Given the description of an element on the screen output the (x, y) to click on. 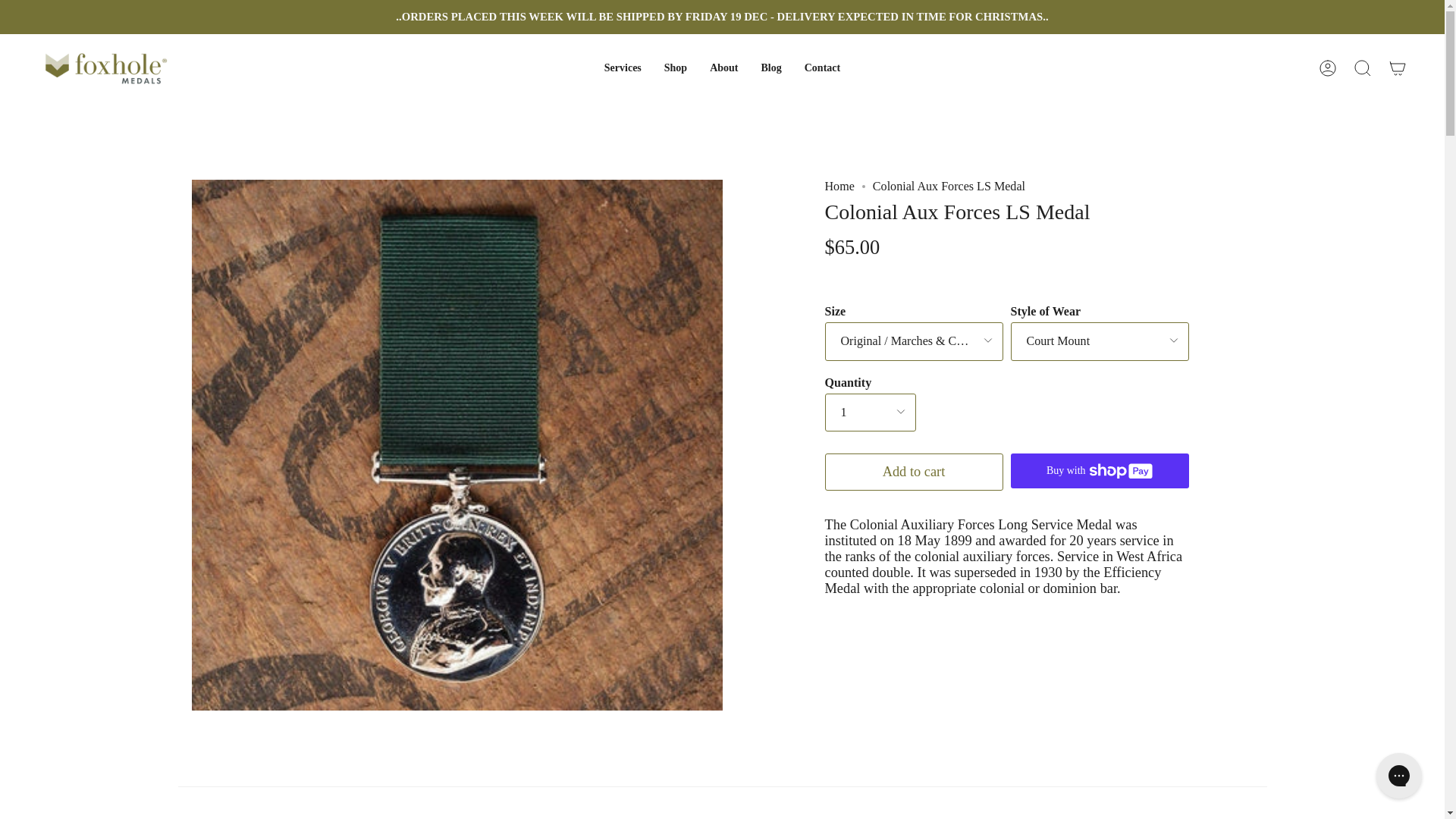
Blog Element type: text (771, 68)
Services Element type: text (622, 68)
Gorgias live chat messenger Element type: hover (1398, 775)
Add to cart Element type: text (914, 472)
Cart Element type: text (1397, 68)
Shop Element type: text (675, 68)
About Element type: text (723, 68)
Original / Marches & Ceremonies Element type: text (914, 341)
Home Element type: text (839, 186)
Search Element type: text (1362, 68)
Contact Element type: text (822, 68)
Court Mount Element type: text (1099, 341)
1 Element type: text (870, 412)
Account Element type: text (1327, 68)
